Given the description of an element on the screen output the (x, y) to click on. 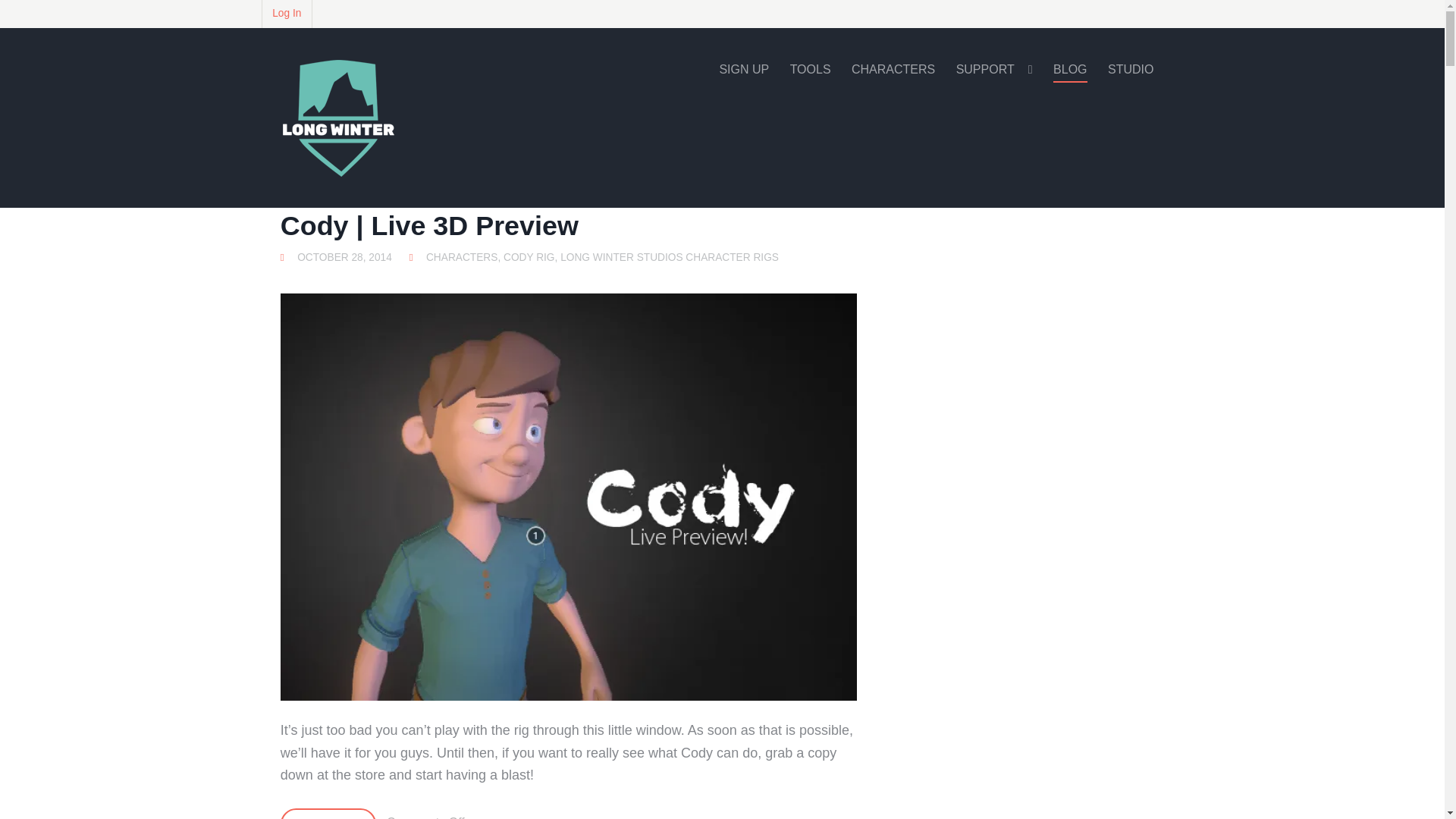
CHARACTERS (892, 70)
OCTOBER 28, 2014 (344, 257)
BLOG (1069, 70)
READ MORE (328, 813)
STUDIO (1130, 70)
SUPPORT (994, 70)
LONG WINTER STUDIOS CHARACTER RIGS (669, 257)
TOOLS (810, 70)
Log In (287, 13)
